Given the description of an element on the screen output the (x, y) to click on. 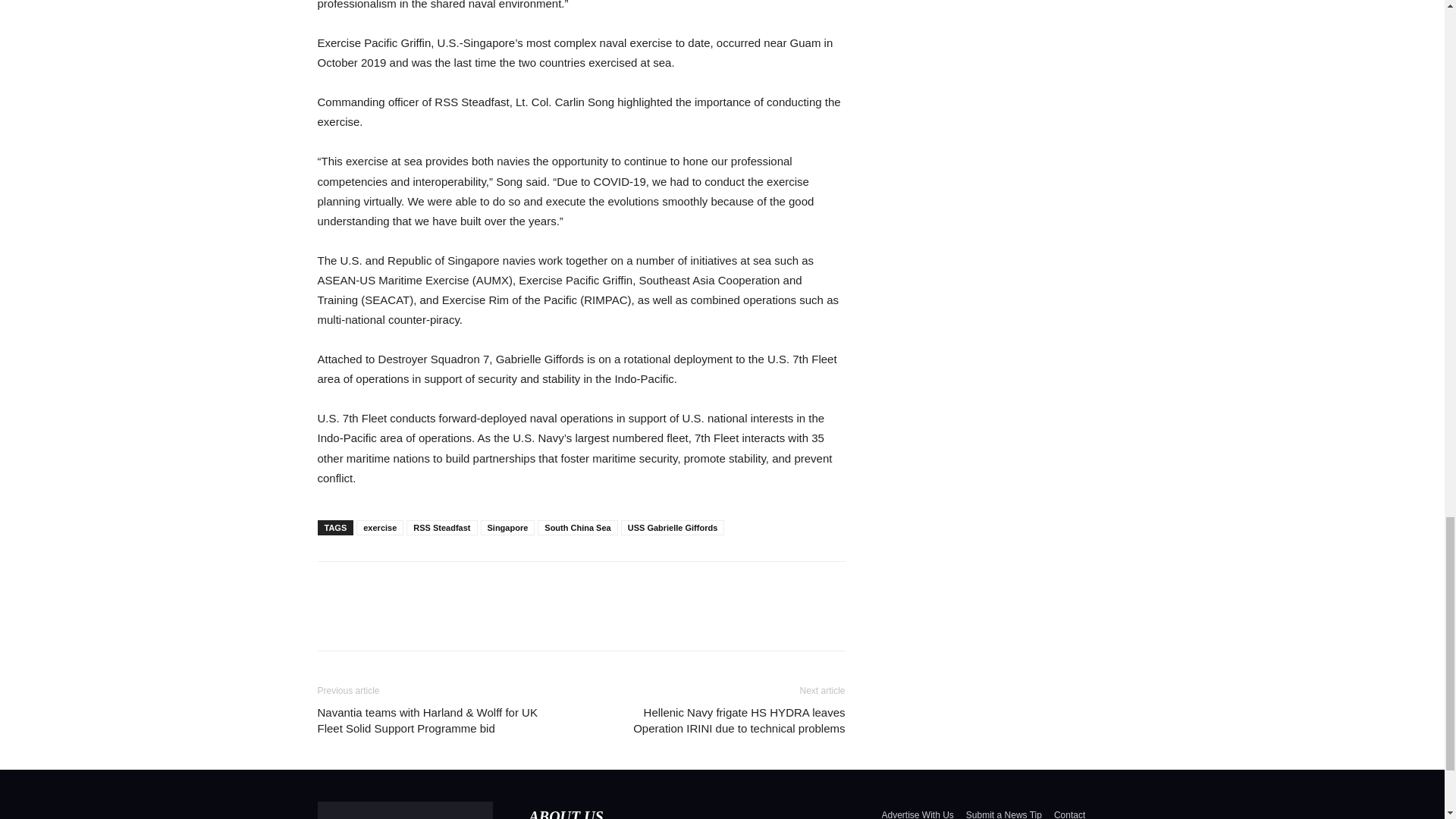
exercise (379, 527)
Singapore (507, 527)
RSS Steadfast (441, 527)
South China Sea (577, 527)
